Given the description of an element on the screen output the (x, y) to click on. 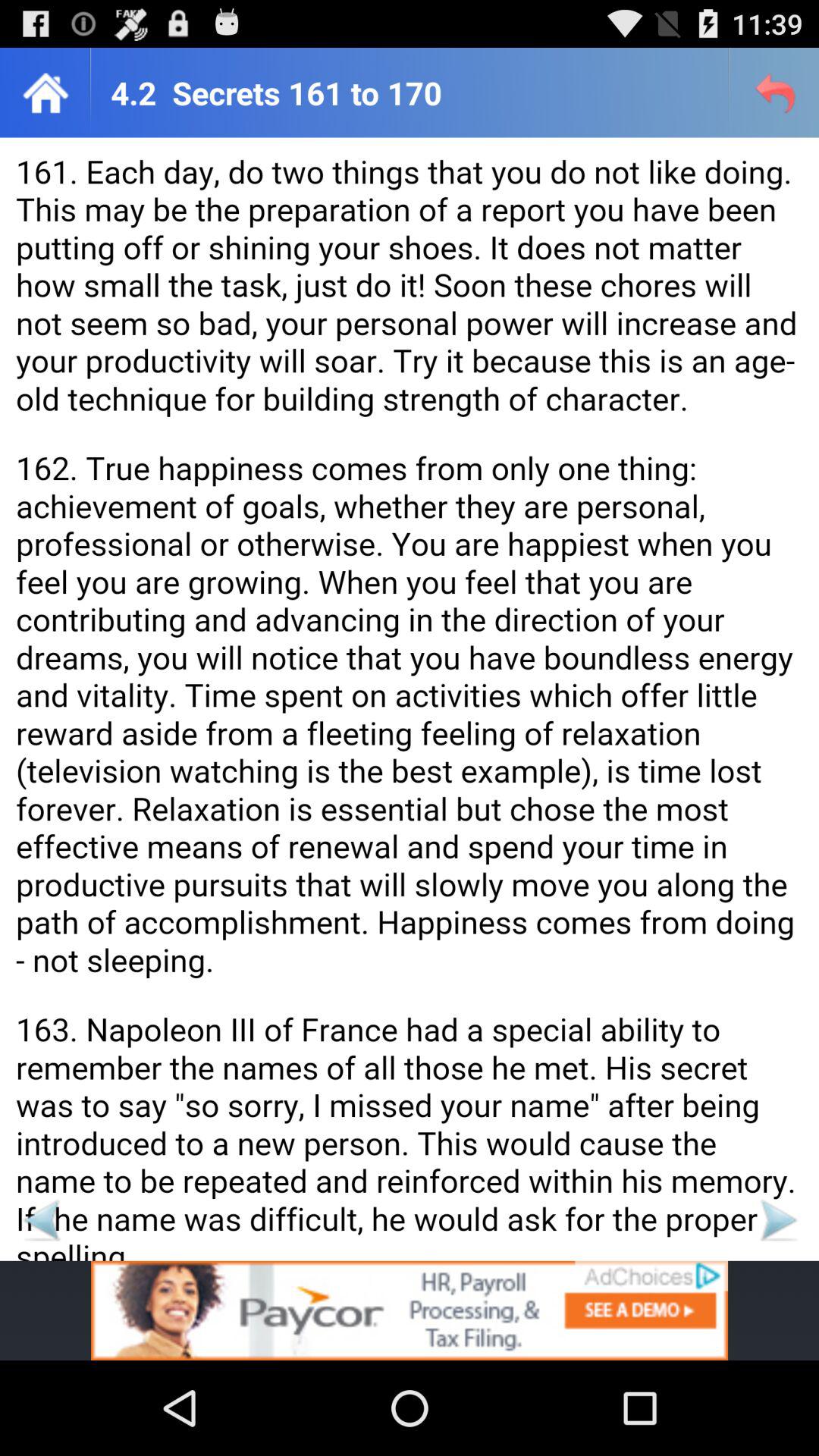
advertisement (409, 1310)
